Given the description of an element on the screen output the (x, y) to click on. 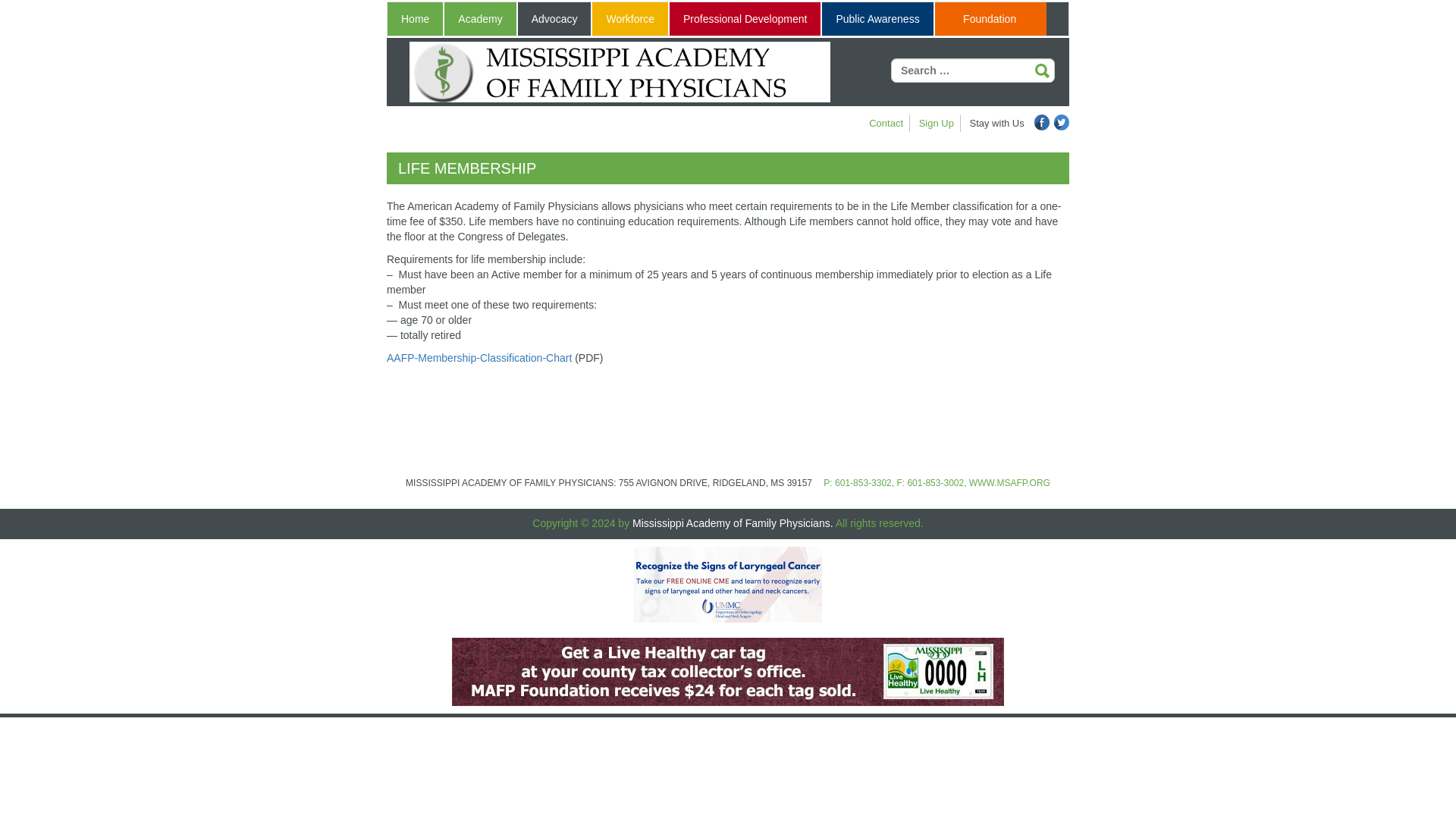
Twitter (1061, 122)
Search (1042, 70)
Home (414, 19)
Search (1042, 70)
YNOT (727, 670)
Advocacy (554, 19)
Facebook (1041, 122)
Academy (479, 19)
Mississippi Academy of Family Physicians homepage (619, 71)
